Given the description of an element on the screen output the (x, y) to click on. 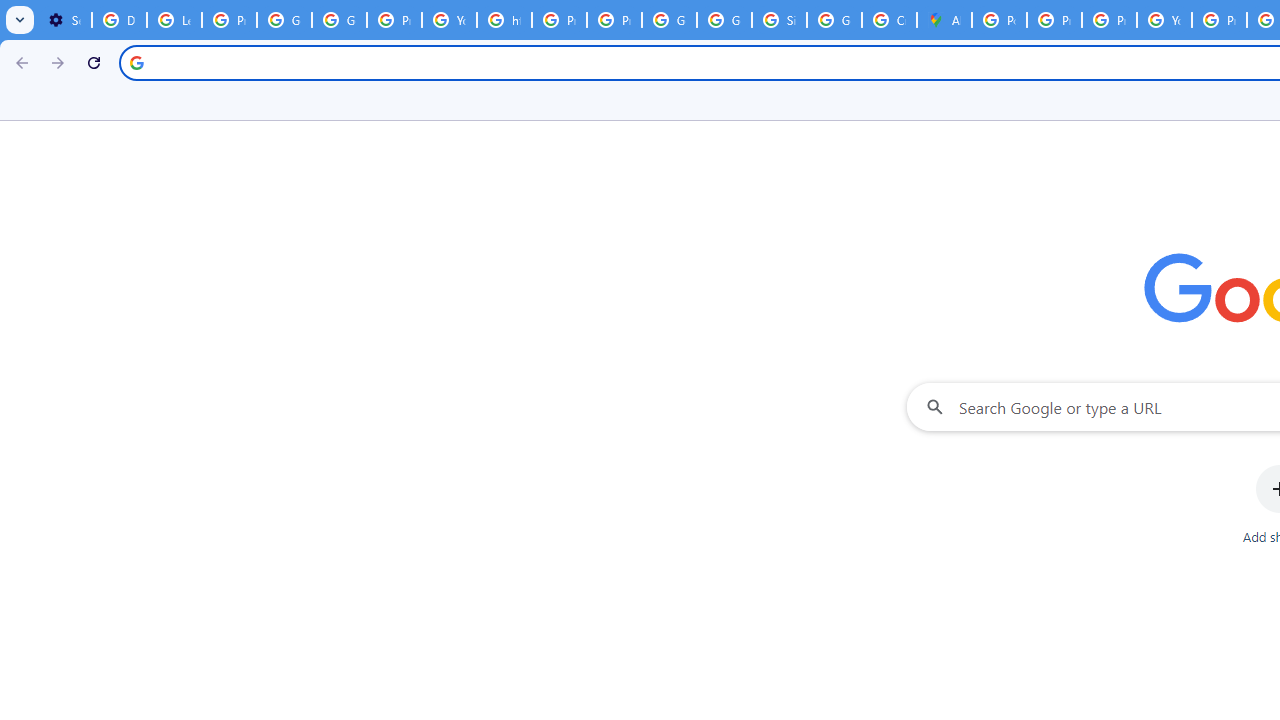
Privacy Help Center - Policies Help (559, 20)
Create your Google Account (888, 20)
Privacy Help Center - Policies Help (1108, 20)
Settings - On startup (64, 20)
Delete photos & videos - Computer - Google Photos Help (119, 20)
